Given the description of an element on the screen output the (x, y) to click on. 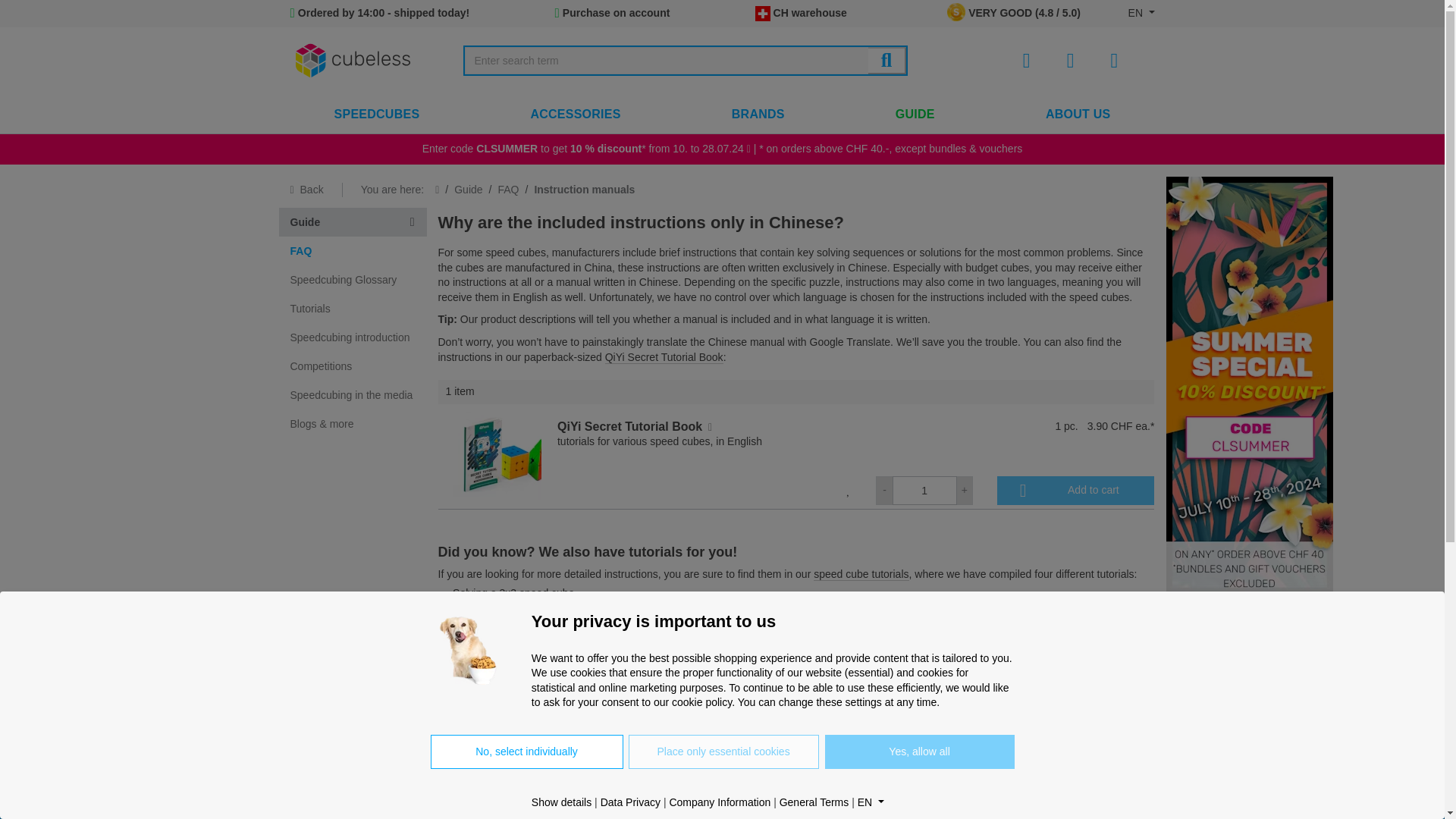
EN (1141, 12)
1 (924, 490)
SPEEDCUBES (377, 114)
